Given the description of an element on the screen output the (x, y) to click on. 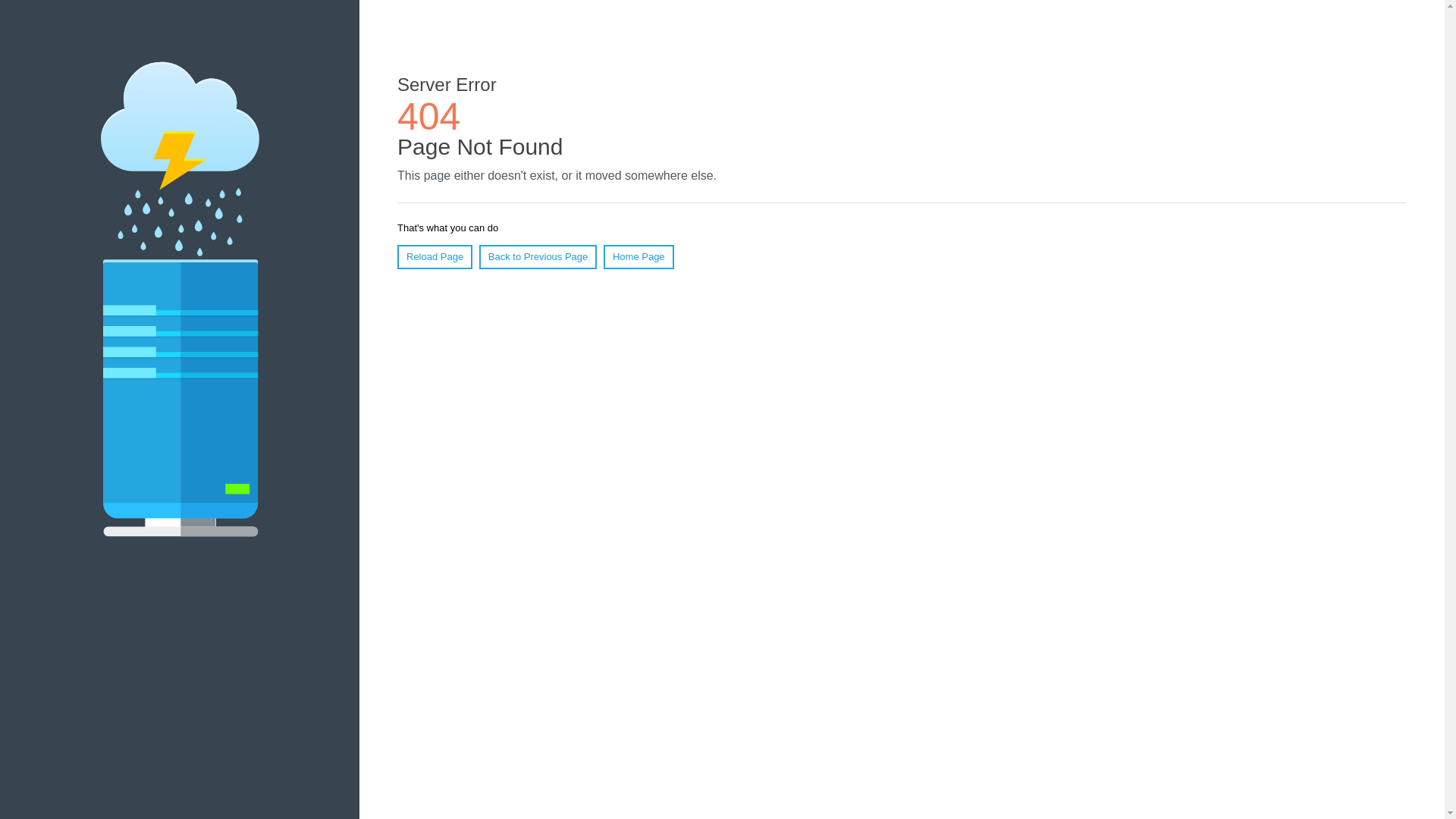
Back to Previous Page Element type: text (538, 256)
Reload Page Element type: text (434, 256)
Home Page Element type: text (638, 256)
